Given the description of an element on the screen output the (x, y) to click on. 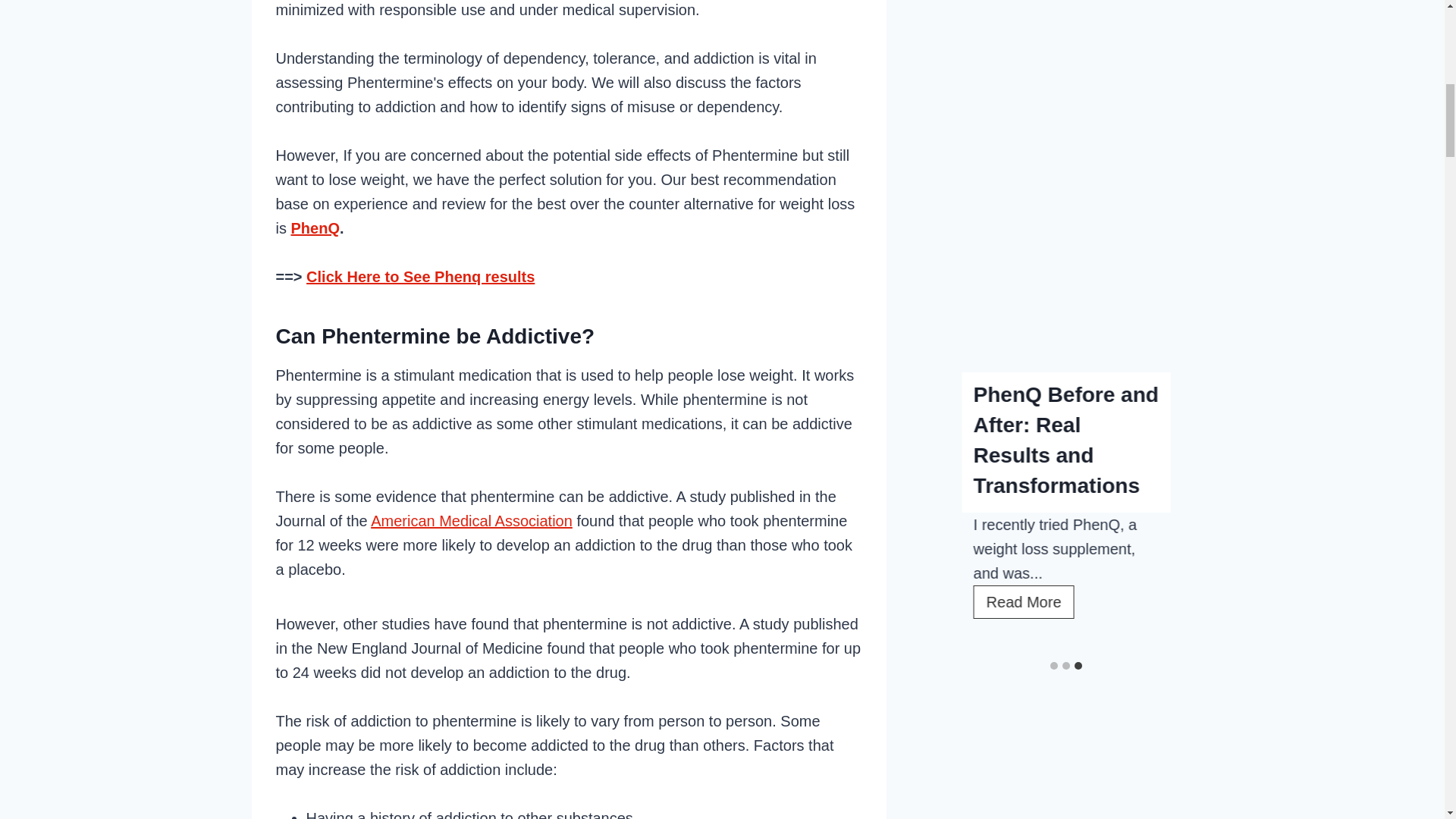
PhenQ (315, 228)
American Medical Association (471, 520)
Click Here to See Phenq results (419, 276)
